Given the description of an element on the screen output the (x, y) to click on. 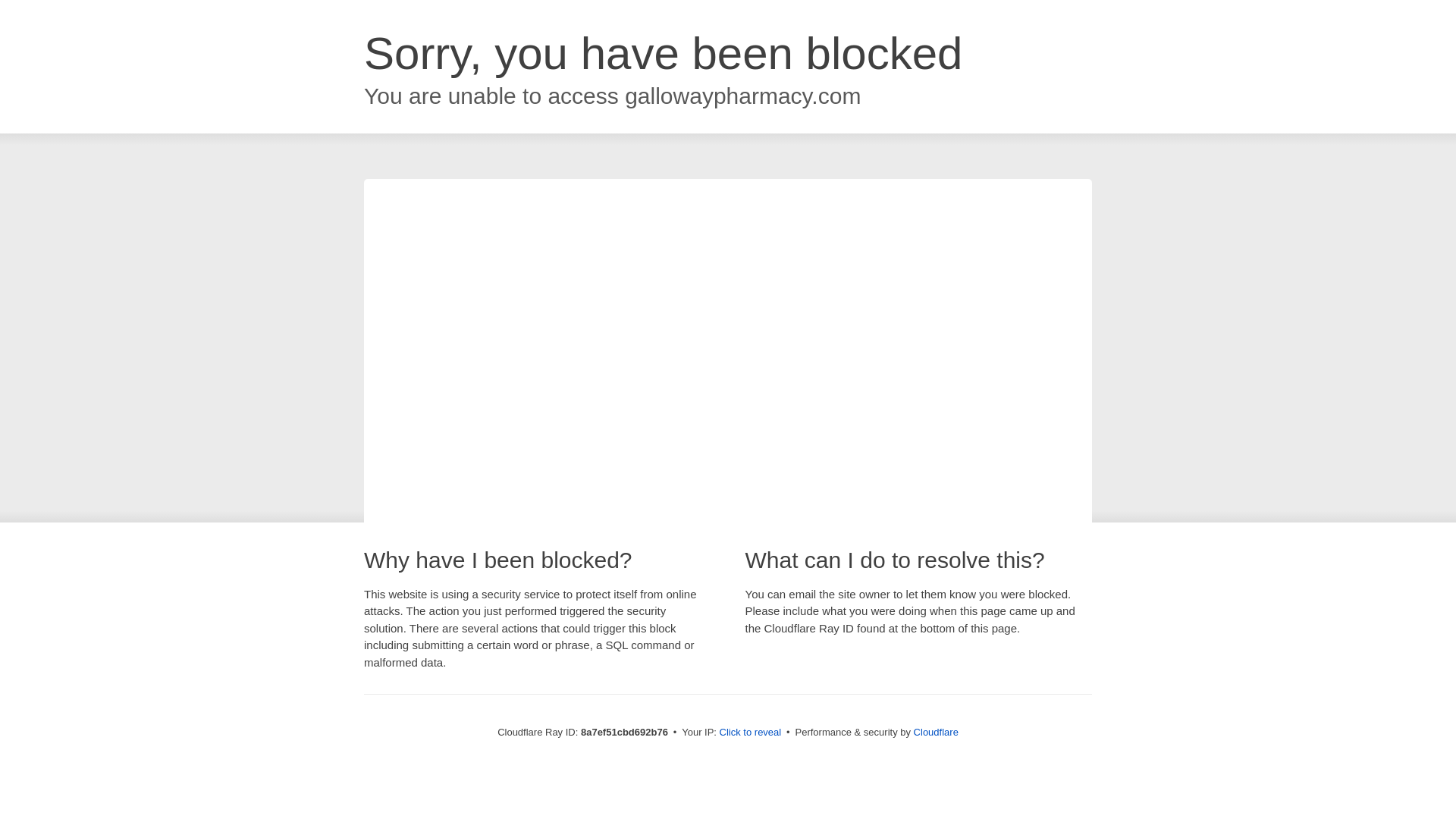
Click to reveal (750, 732)
Cloudflare (936, 731)
